Given the description of an element on the screen output the (x, y) to click on. 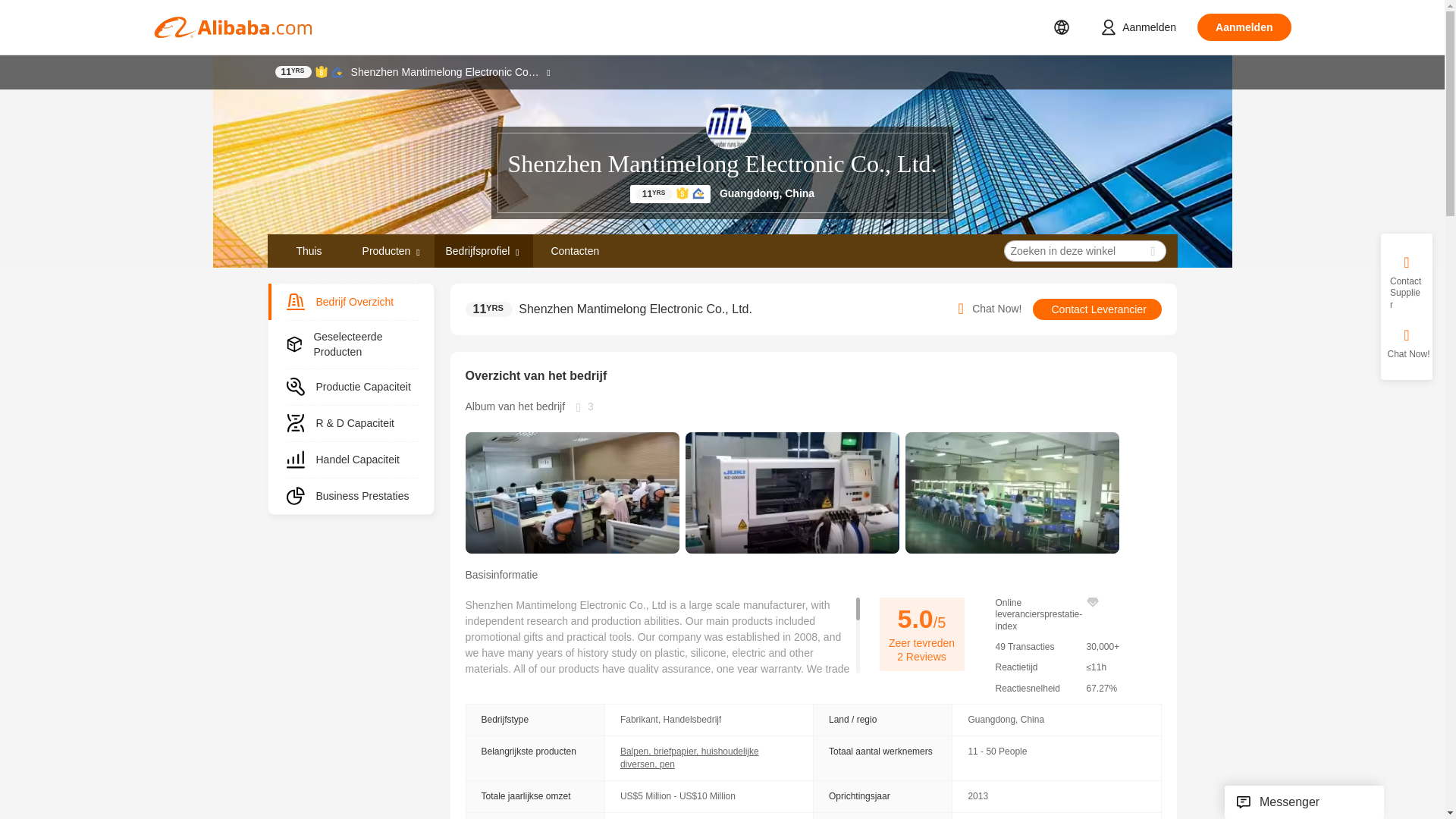
Producten (386, 250)
Bedrijfsprofiel (478, 250)
Balpen, briefpapier, huishoudelijke diversen, pen (689, 757)
11YRS (293, 71)
What is Gold Supplier? (293, 71)
Chat Now! (987, 309)
Shenzhen Mantimelong Electronic Co., Ltd. (721, 163)
Contacten (573, 250)
11YRS (654, 193)
Producten (391, 250)
11YRS (489, 309)
Contact Leverancier (1096, 309)
What is Gold Supplier? (654, 193)
Bedrijfsprofiel (482, 250)
Thuis (308, 250)
